Given the description of an element on the screen output the (x, y) to click on. 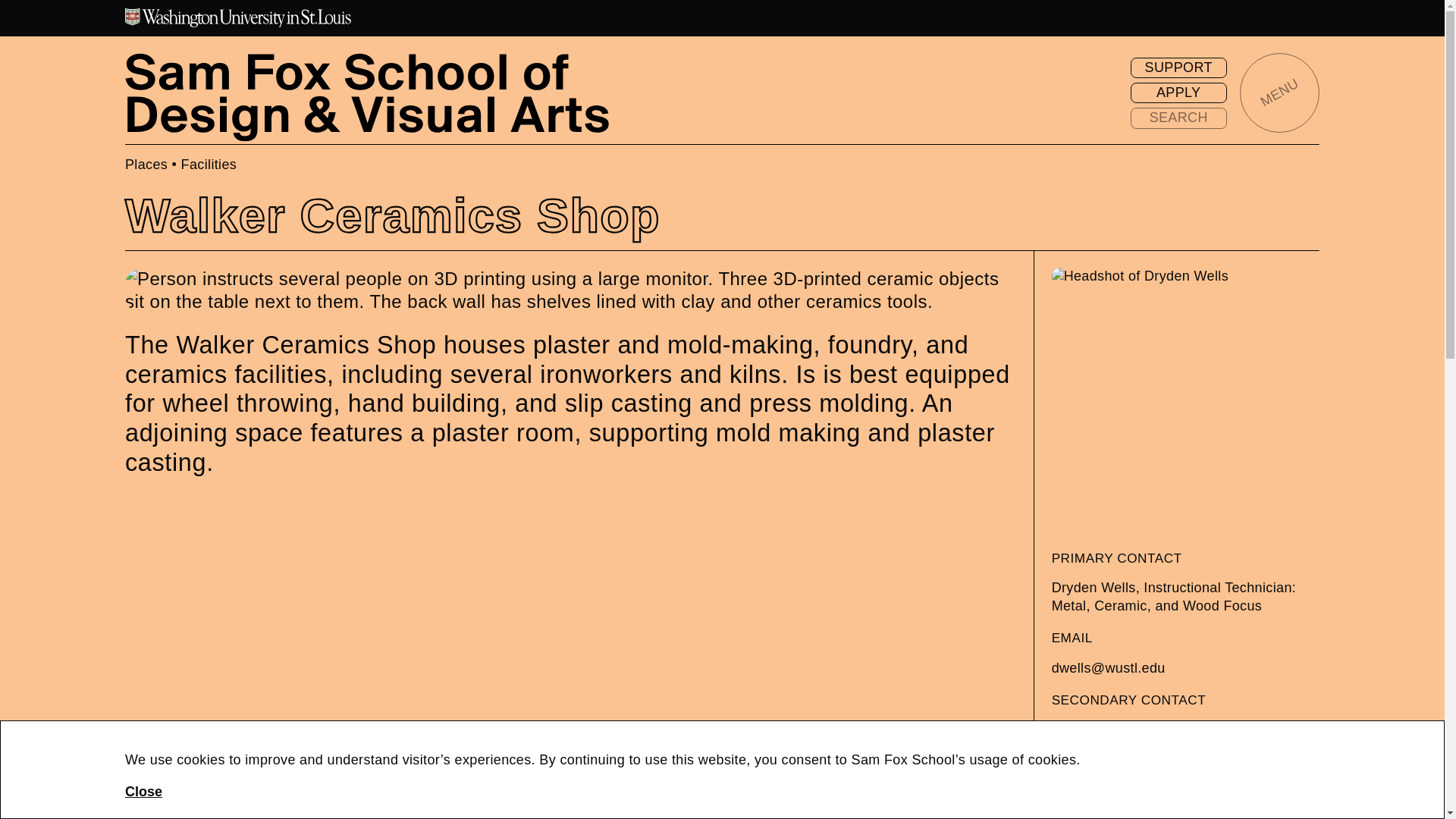
SUPPORT (1179, 67)
Skip to content (17, 18)
SEARCH (1179, 117)
APPLY (1179, 93)
MENU (1279, 92)
Close (143, 791)
